Given the description of an element on the screen output the (x, y) to click on. 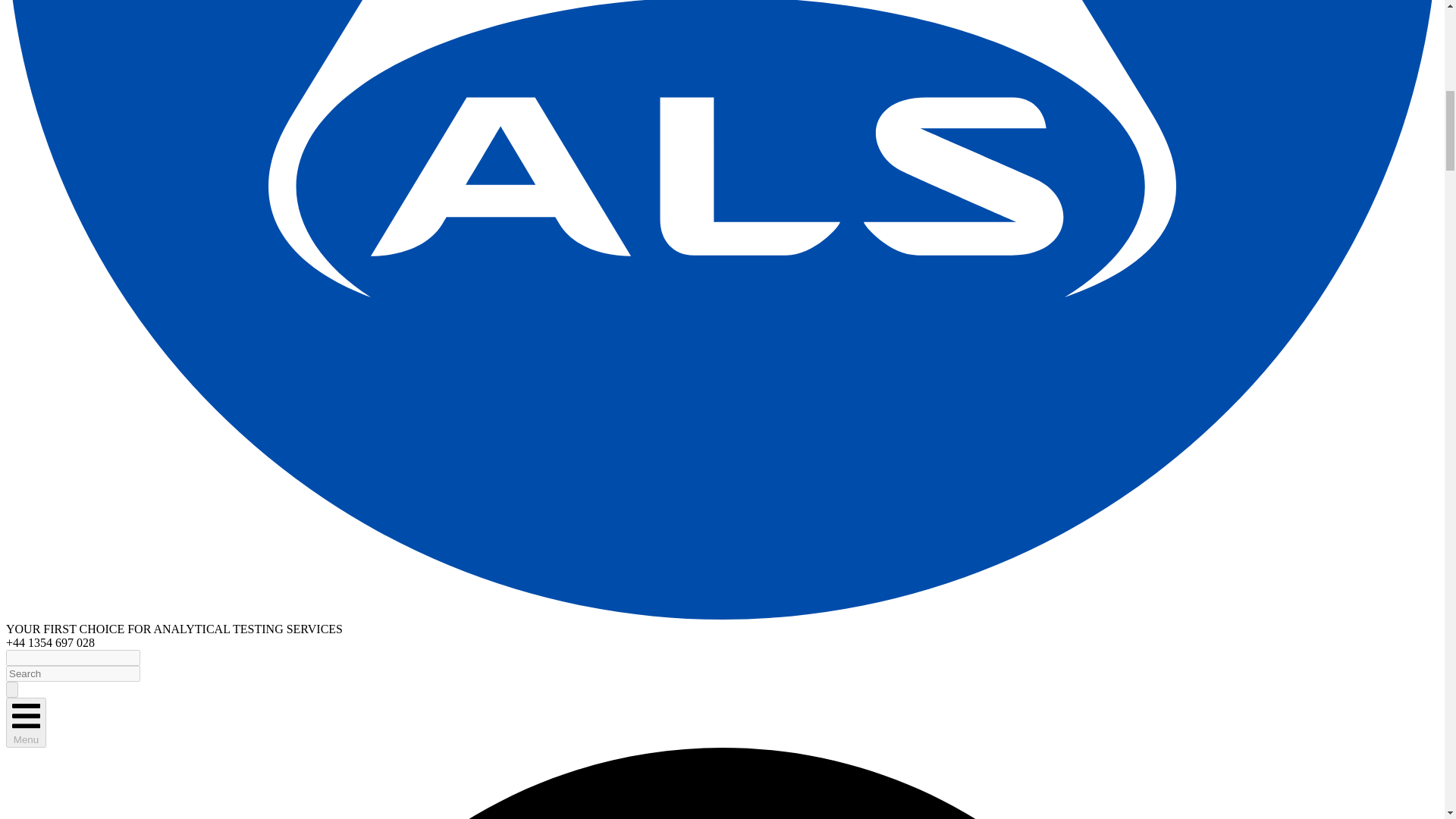
Menu (25, 722)
